Given the description of an element on the screen output the (x, y) to click on. 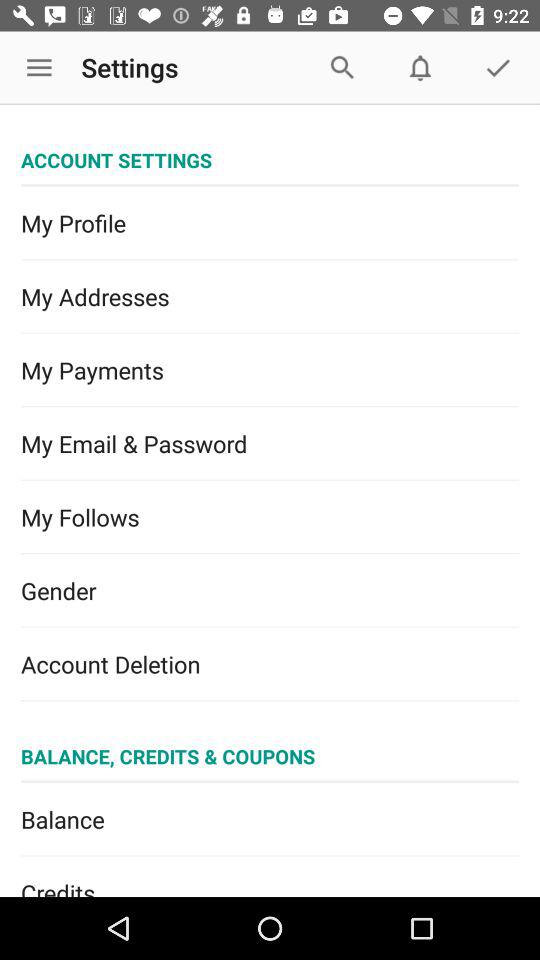
jump until the my profile item (270, 223)
